Given the description of an element on the screen output the (x, y) to click on. 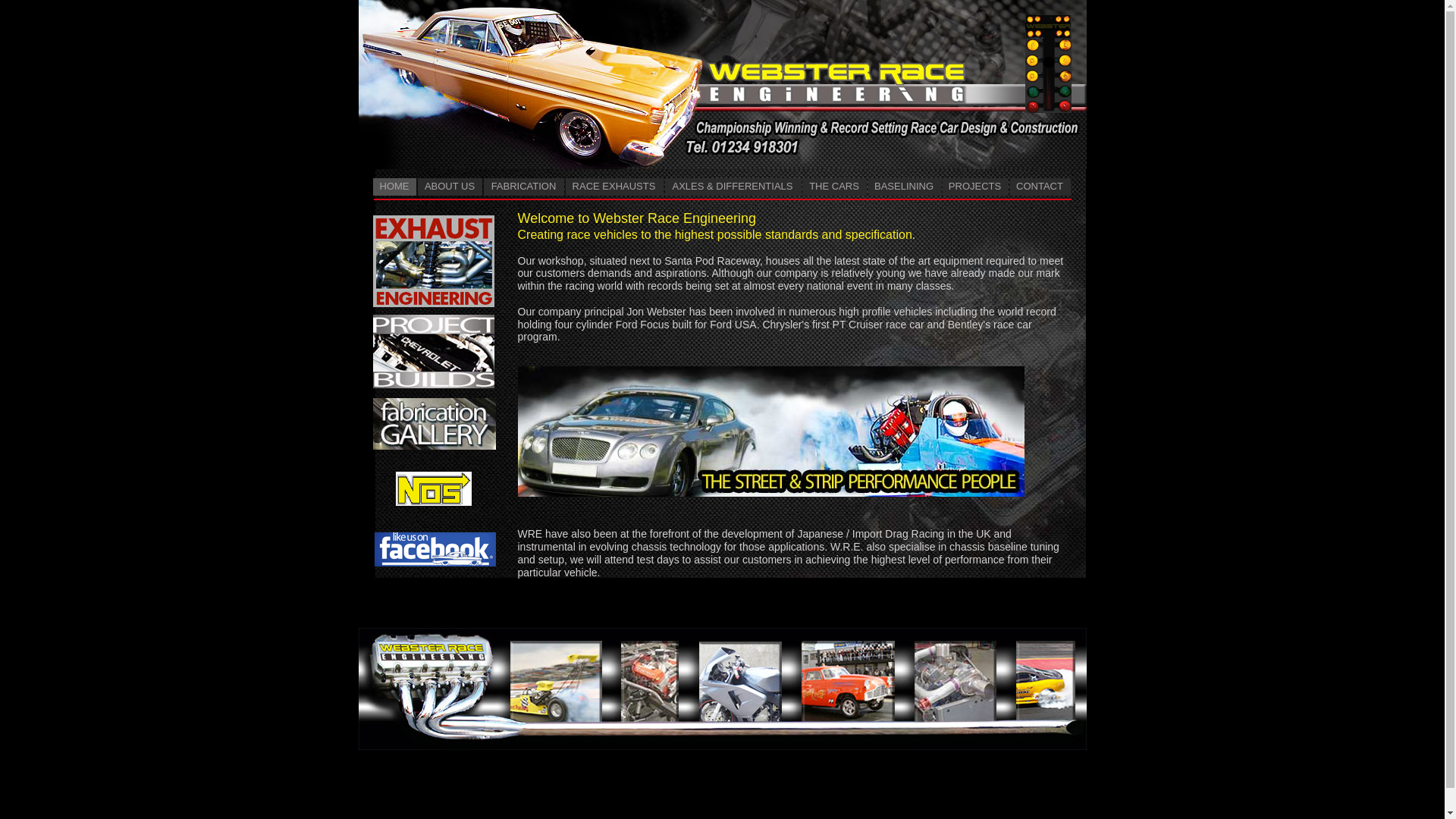
FABRICATION (523, 186)
facebook (435, 549)
CONTACT (1040, 186)
RACE EXHAUSTS (614, 186)
PROJECTS (974, 186)
THE CARS (834, 186)
HOME (394, 186)
exhaust services (433, 270)
ABOUT US (448, 186)
BASELINING (903, 186)
